Given the description of an element on the screen output the (x, y) to click on. 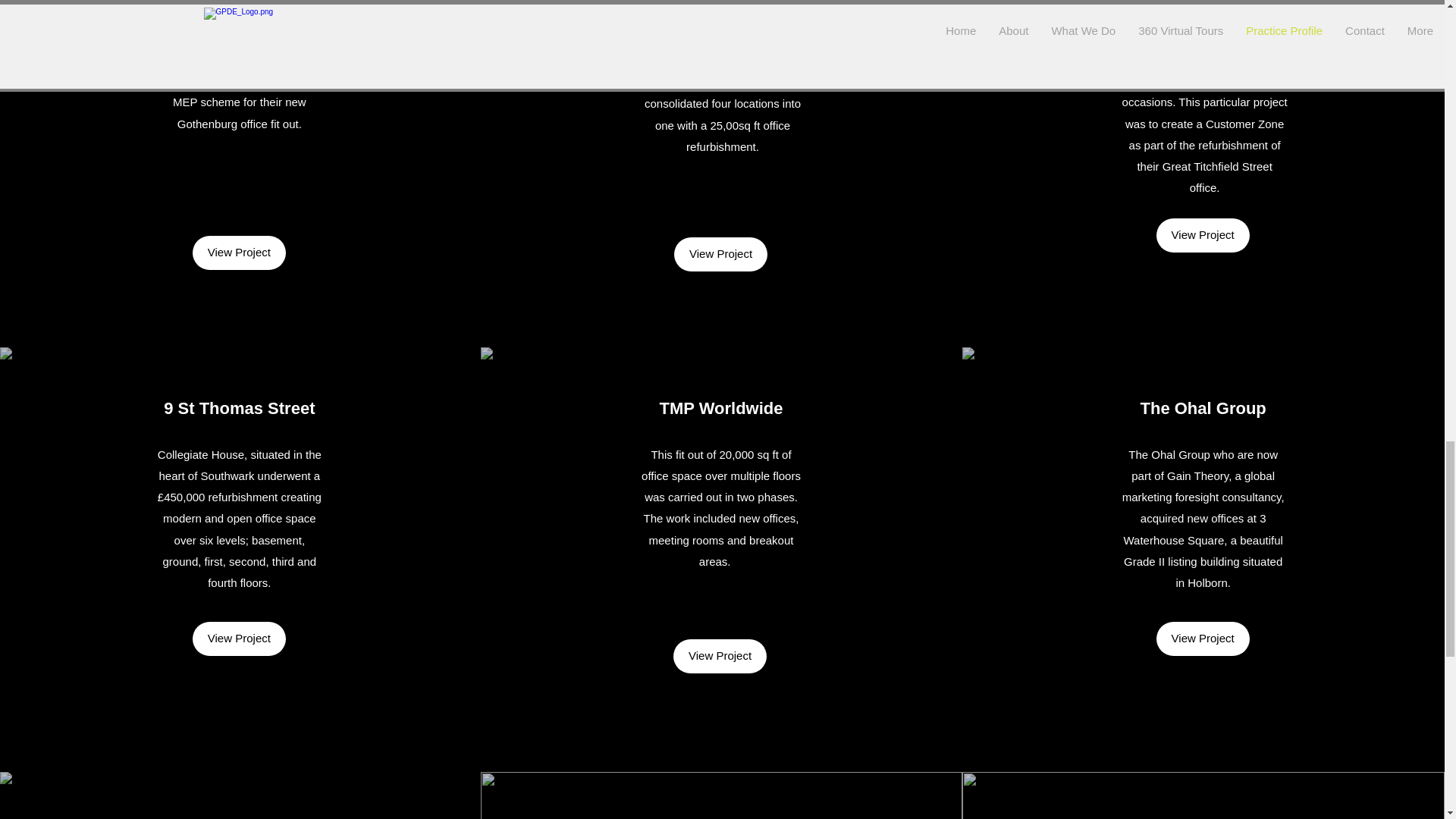
View Project (238, 638)
View Project (1202, 235)
View Project (719, 656)
View Project (1202, 638)
View Project (720, 254)
View Project (238, 252)
